Given the description of an element on the screen output the (x, y) to click on. 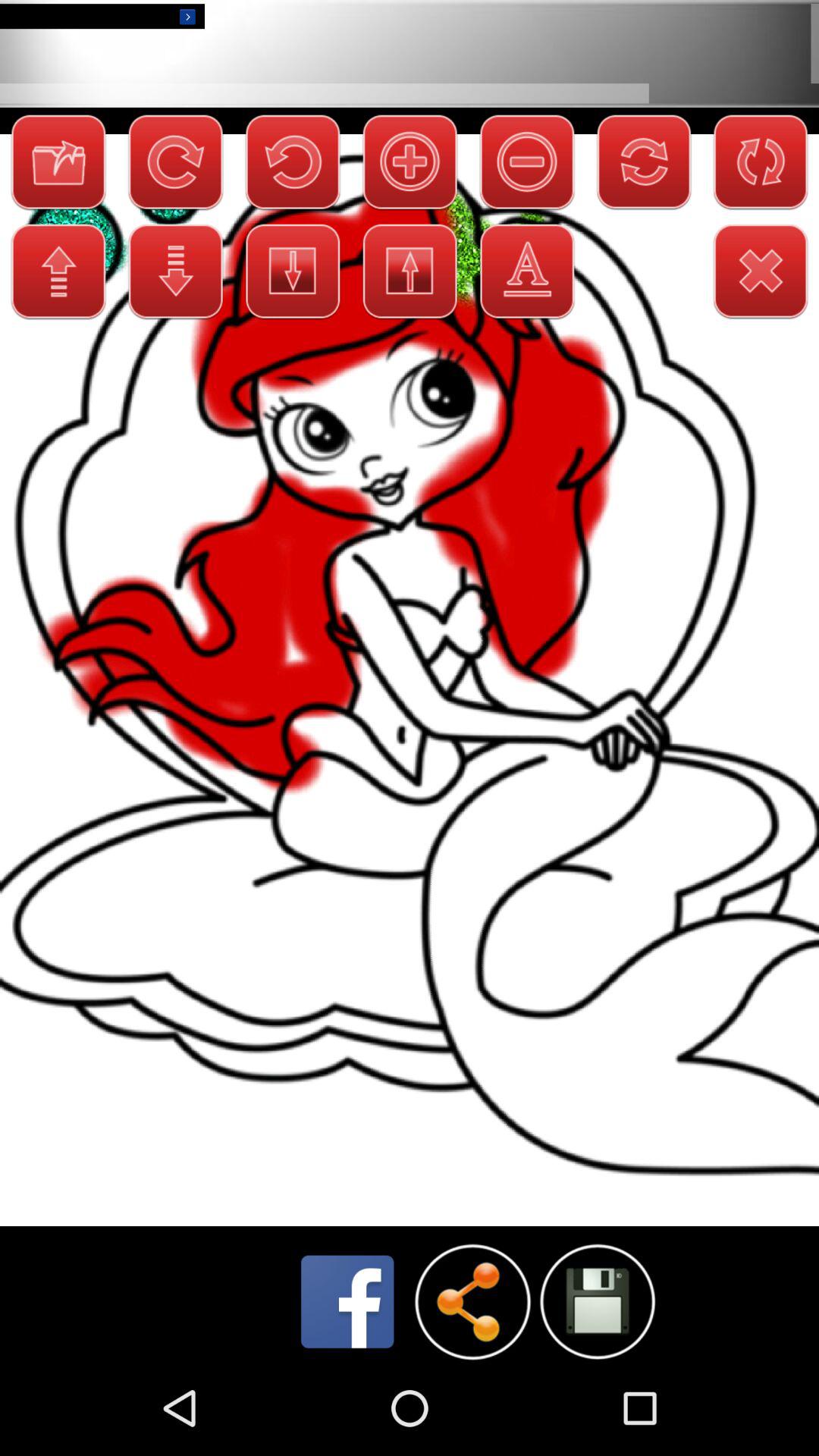
go to facebook page (347, 1301)
